Given the description of an element on the screen output the (x, y) to click on. 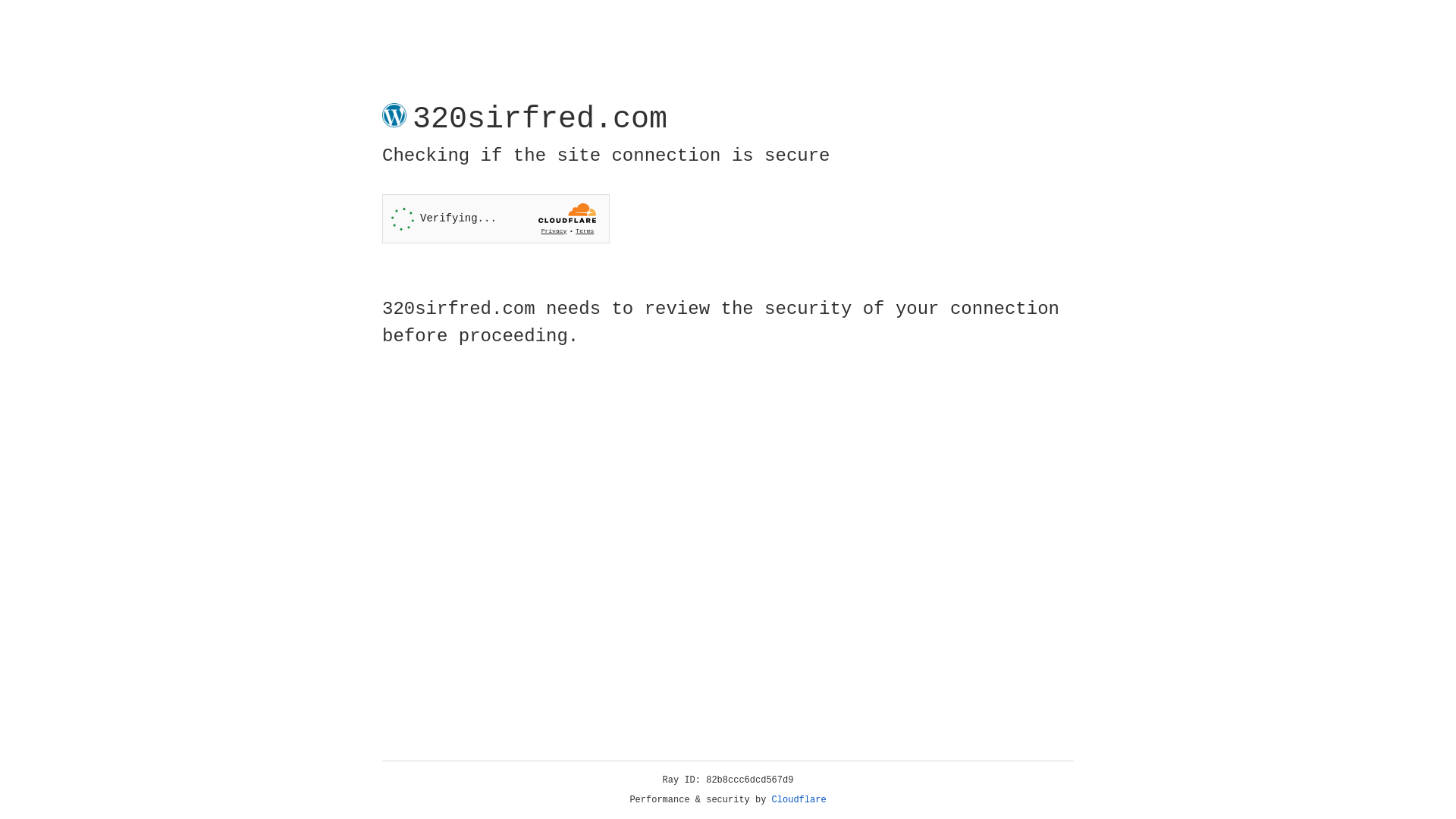
Cloudflare Element type: text (798, 799)
Widget containing a Cloudflare security challenge Element type: hover (495, 218)
